Given the description of an element on the screen output the (x, y) to click on. 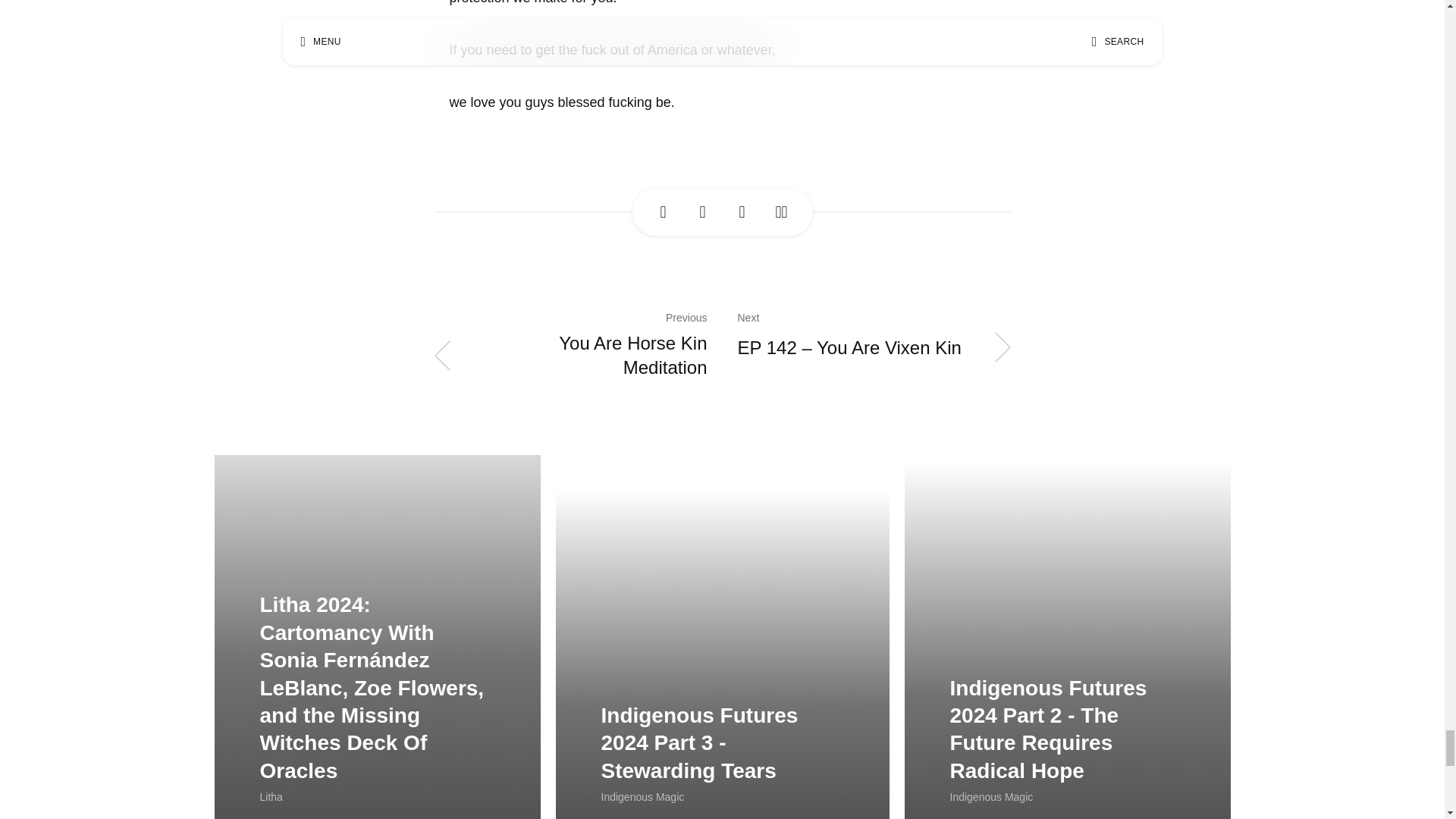
Litha (270, 797)
You Are Horse Kin Meditation (569, 354)
